Given the description of an element on the screen output the (x, y) to click on. 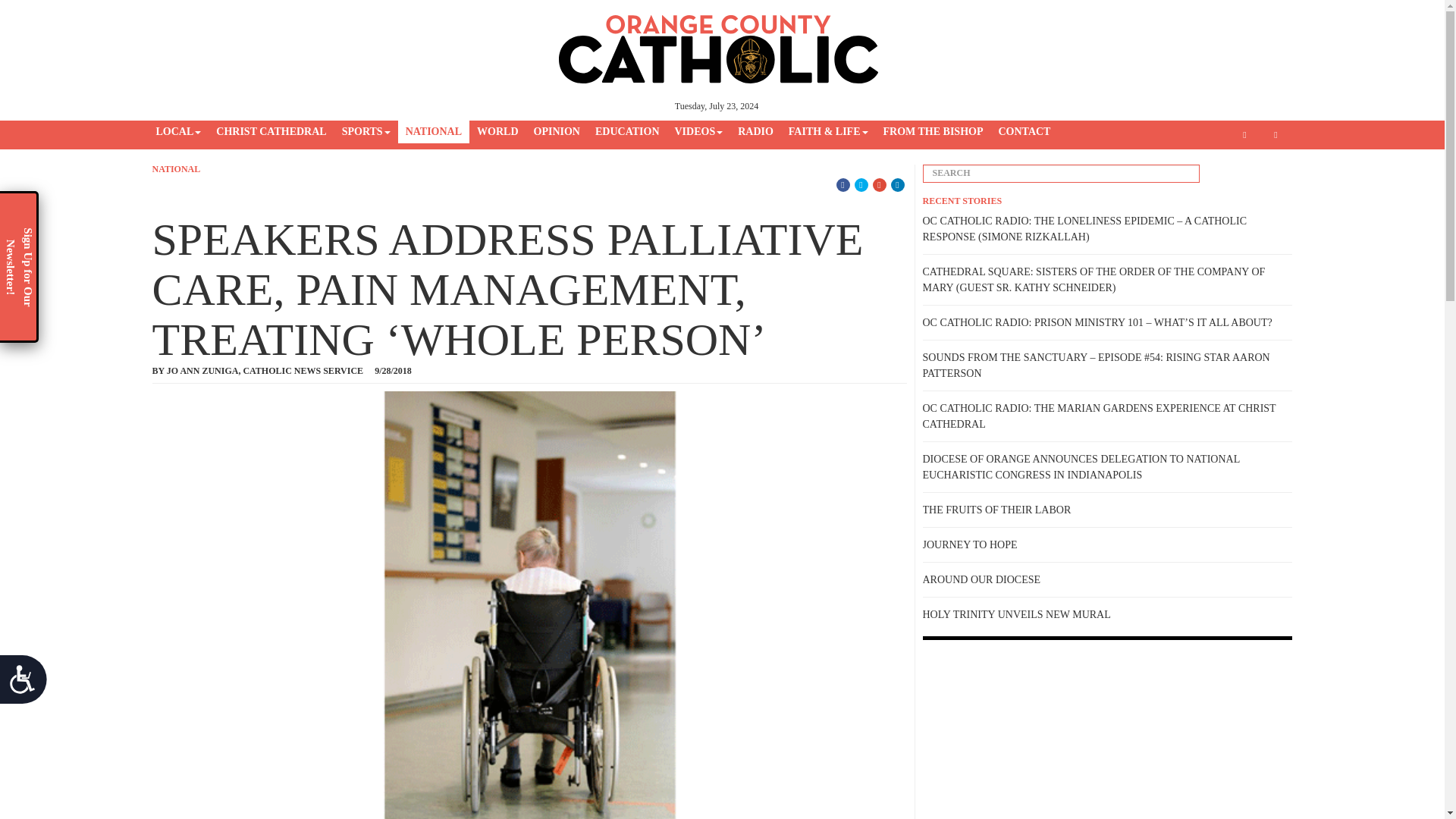
CHRIST CATHEDRAL (270, 131)
CONTACT (1024, 131)
EDUCATION (627, 131)
Accessibility (29, 685)
SPORTS (365, 131)
LOCAL (178, 131)
VIDEOS (698, 131)
WORLD (496, 131)
NATIONAL (432, 131)
NATIONAL (175, 168)
FROM THE BISHOP (932, 131)
National (175, 168)
OPINION (556, 131)
RADIO (755, 131)
